Given the description of an element on the screen output the (x, y) to click on. 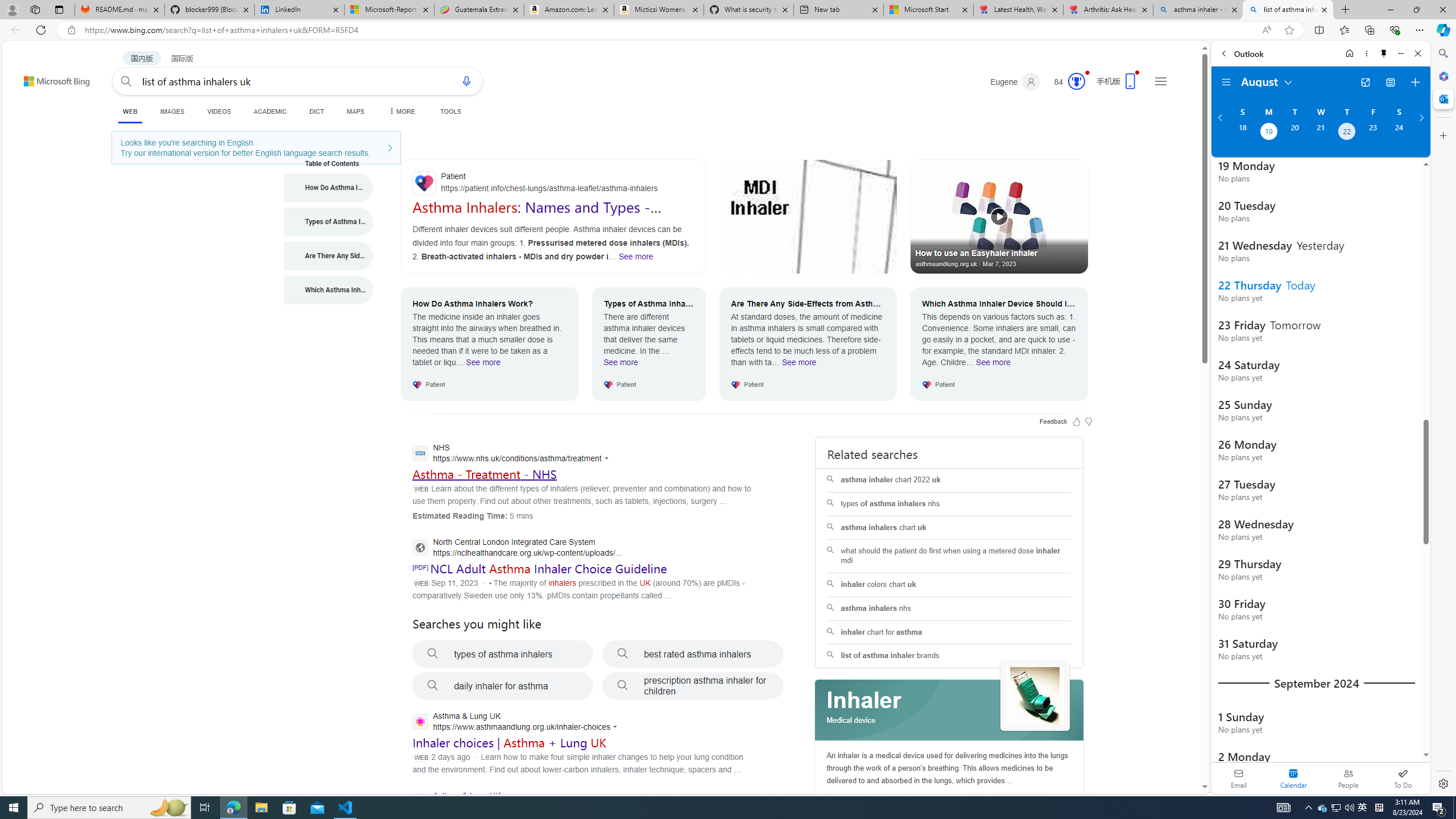
asthma inhalers nhs (949, 608)
Thursday, August 22, 2024. Today.  (1346, 132)
Folder navigation (1225, 82)
Arthritis: Ask Health Professionals (1107, 9)
asthma inhalers nhs (949, 608)
North Central London Integrated Care System (516, 549)
inhaler chart for asthma (949, 632)
Saturday, August 24, 2024.  (1399, 132)
Patient (553, 182)
Settings and quick links (1160, 80)
